Given the description of an element on the screen output the (x, y) to click on. 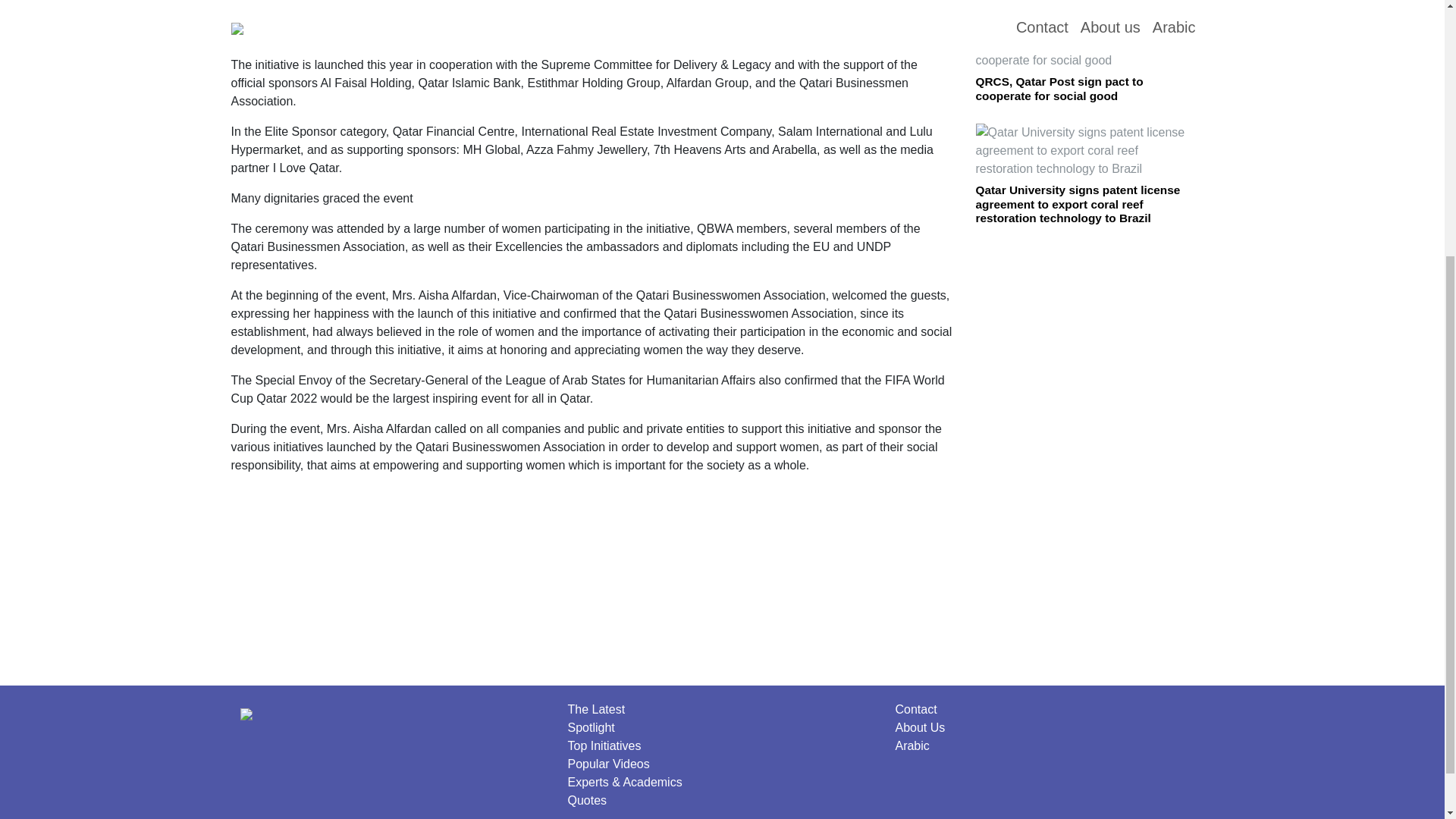
Contact (915, 708)
QRCS, Qatar Post sign pact to cooperate for social good (1058, 88)
Quotes (587, 799)
Top Initiatives (603, 745)
Spotlight (590, 727)
Arabic (911, 745)
About Us (919, 727)
On the road to ESG investment in Qatar (1067, 5)
The Latest (595, 708)
Popular Videos (608, 763)
